Given the description of an element on the screen output the (x, y) to click on. 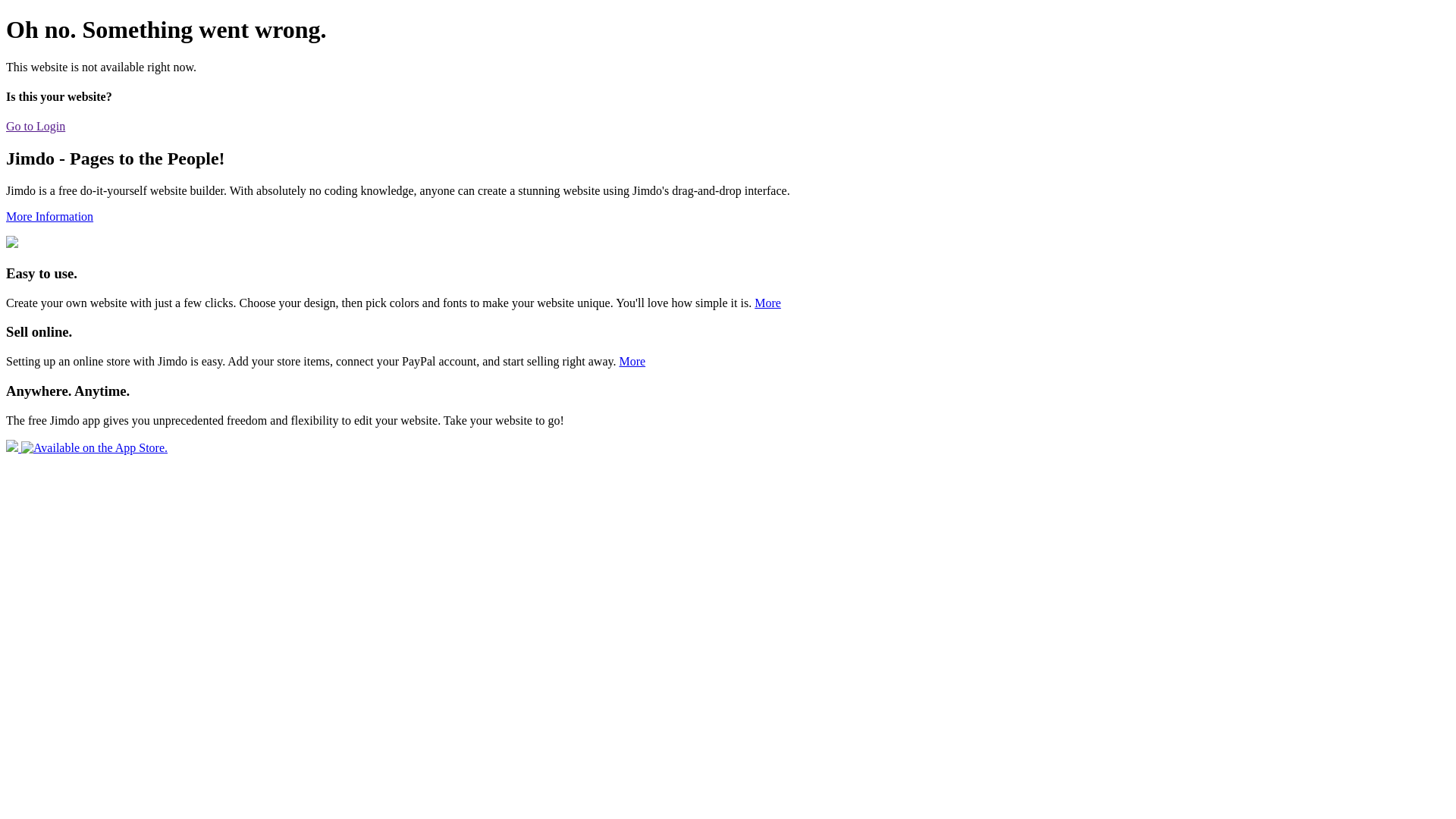
More Element type: text (767, 302)
Available on the App Store. Element type: hover (86, 447)
More Information Element type: text (49, 216)
More Element type: text (631, 360)
Go to Login Element type: text (35, 125)
